Given the description of an element on the screen output the (x, y) to click on. 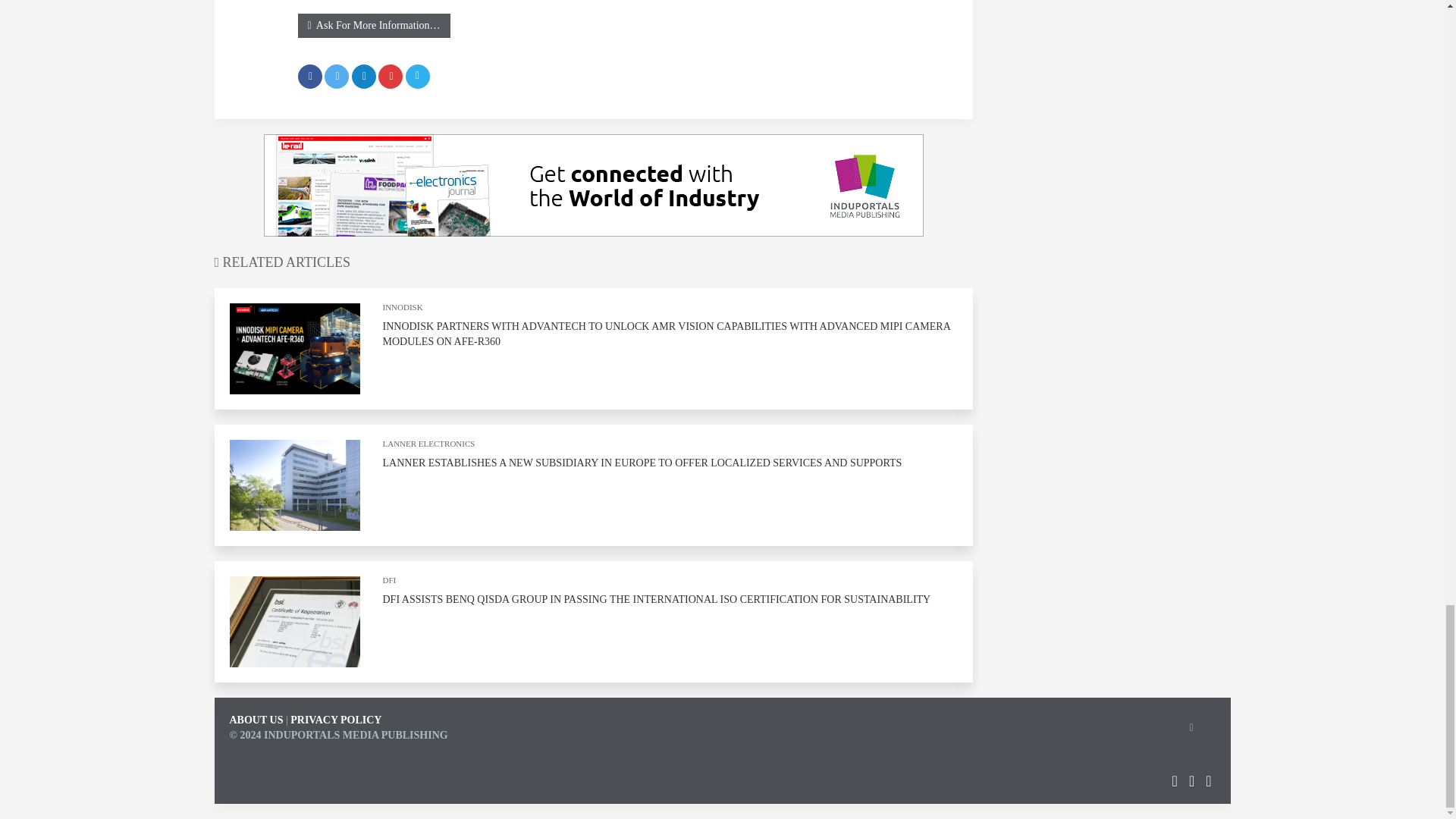
Share on Pinterest (390, 76)
Share on Facebook (309, 76)
Share on LinkedIn (363, 76)
Share on Twitter (336, 76)
